Given the description of an element on the screen output the (x, y) to click on. 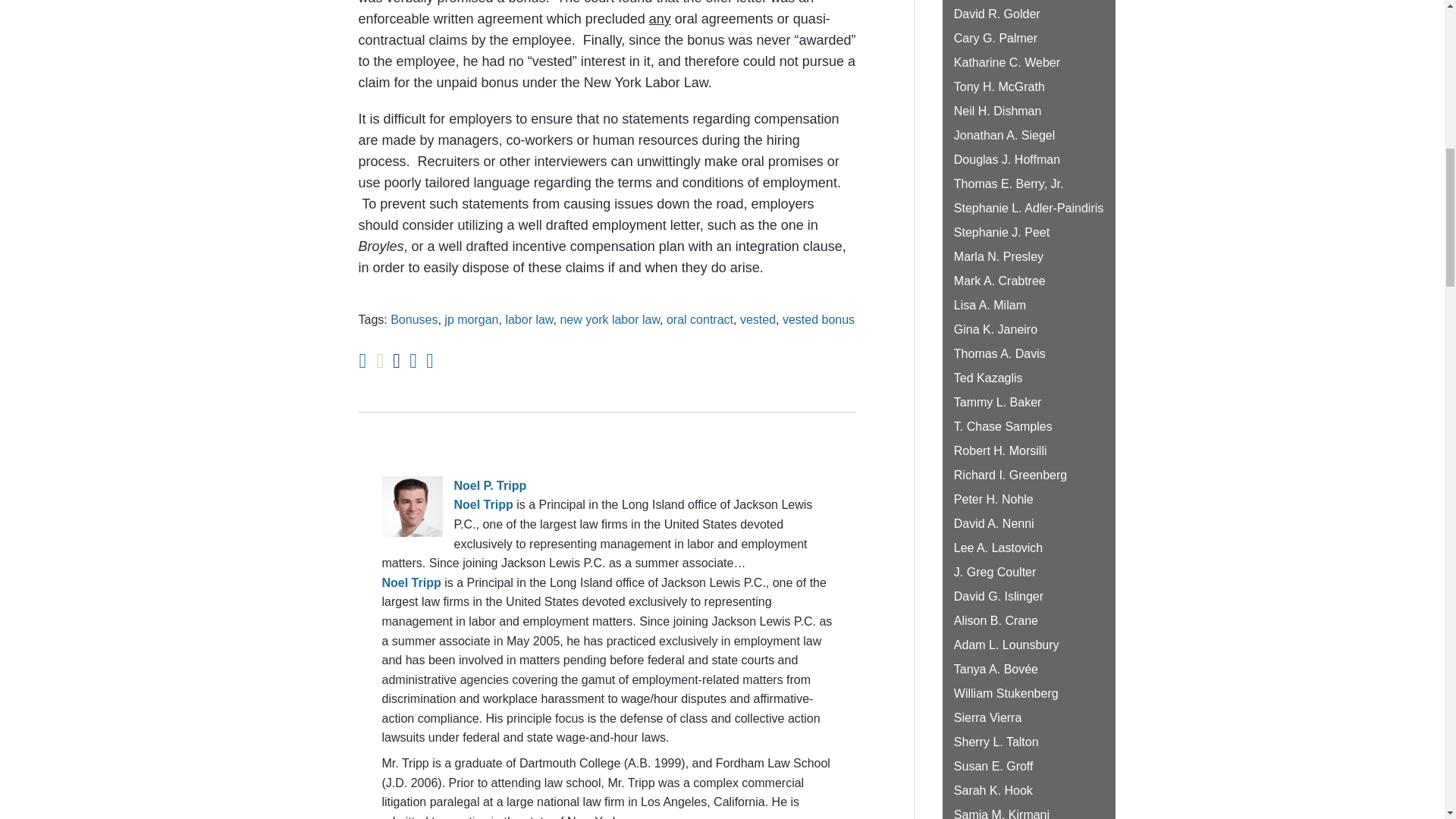
Noel P. Tripp (606, 485)
vested (757, 318)
Bonuses (414, 318)
labor law (529, 318)
jp morgan (470, 318)
vested bonus (818, 318)
Noel Tripp (482, 504)
new york labor law (609, 318)
Noel Tripp (411, 582)
oral contract (699, 318)
